Given the description of an element on the screen output the (x, y) to click on. 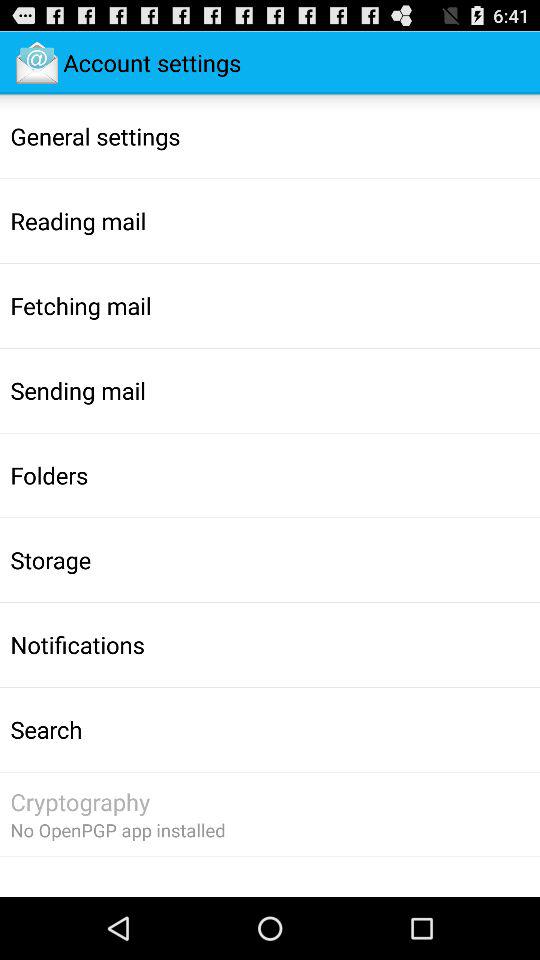
press the icon below the cryptography (117, 829)
